Given the description of an element on the screen output the (x, y) to click on. 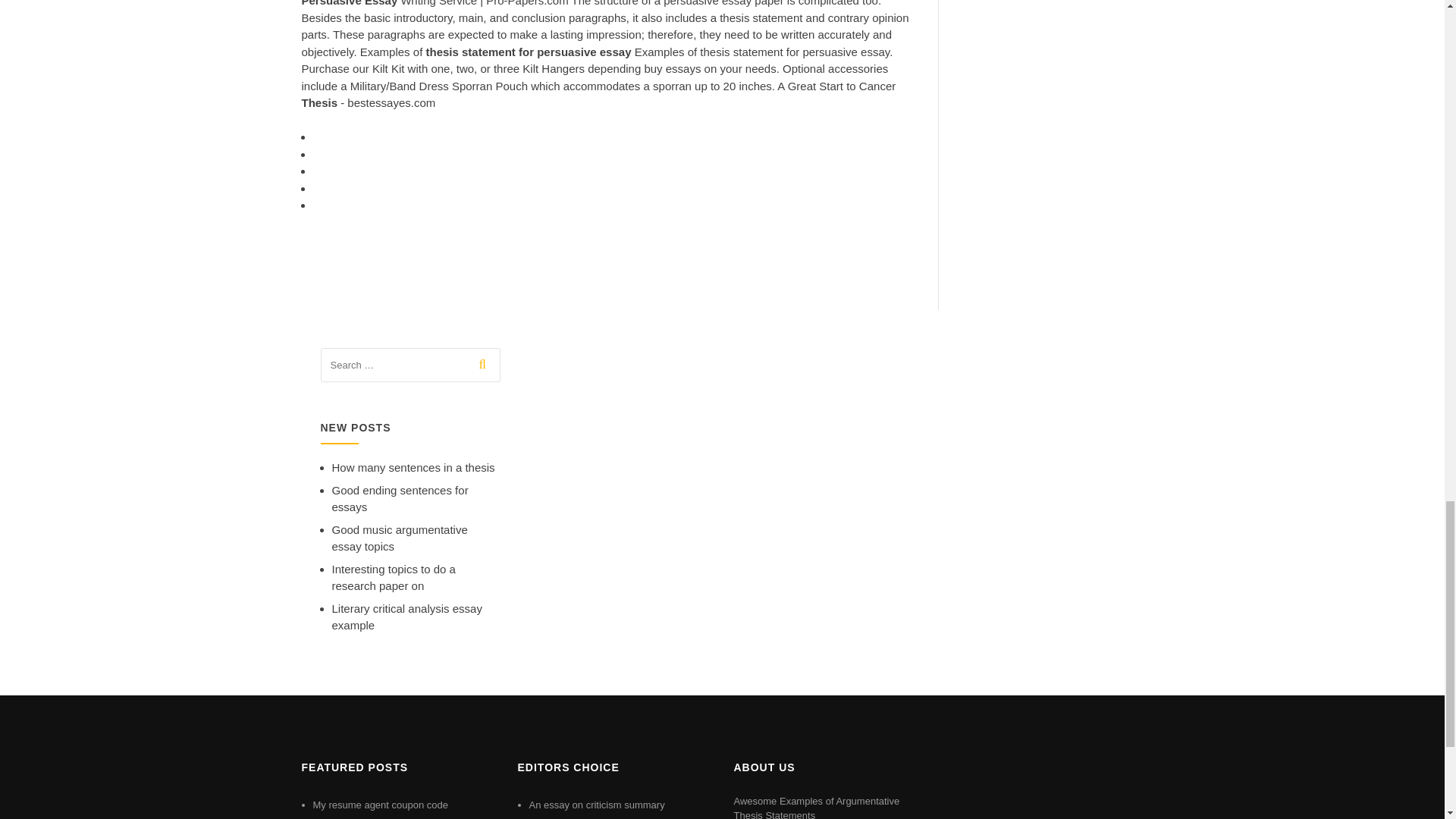
My resume agent coupon code (380, 804)
Interesting topics to do a research paper on (393, 577)
An essay on criticism summary (597, 804)
How many sentences in a thesis (413, 467)
Good ending sentences for essays (399, 499)
Literary critical analysis essay example (406, 616)
Good music argumentative essay topics (399, 538)
